Given the description of an element on the screen output the (x, y) to click on. 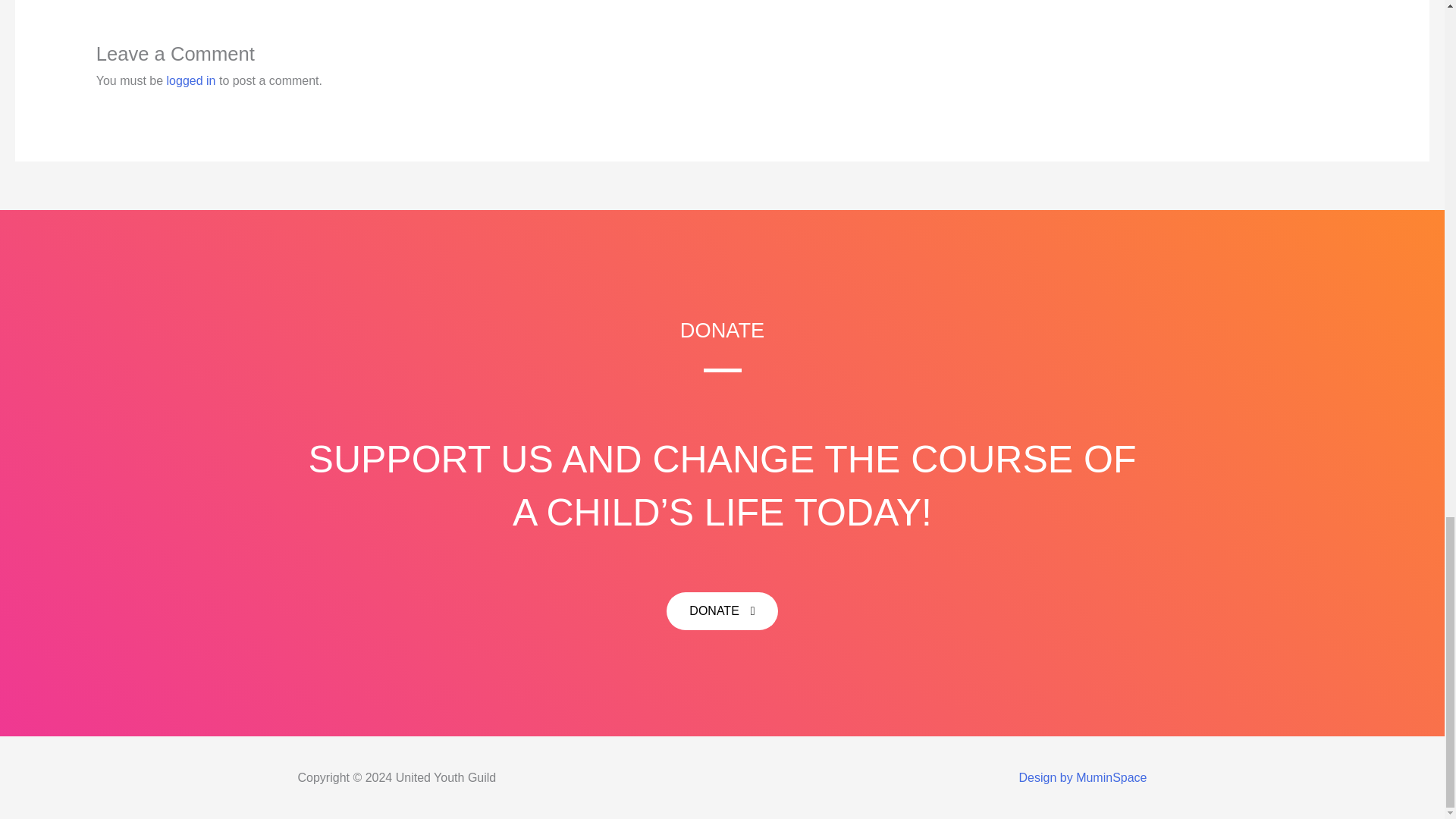
Design by MuminSpace (1083, 777)
logged in (191, 80)
DONATE (721, 610)
